Given the description of an element on the screen output the (x, y) to click on. 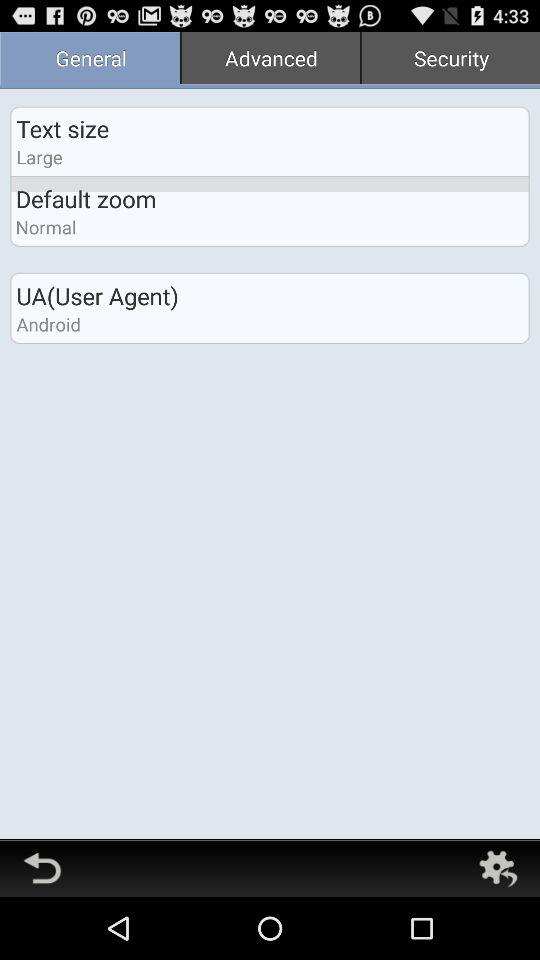
launch the security item (450, 60)
